Given the description of an element on the screen output the (x, y) to click on. 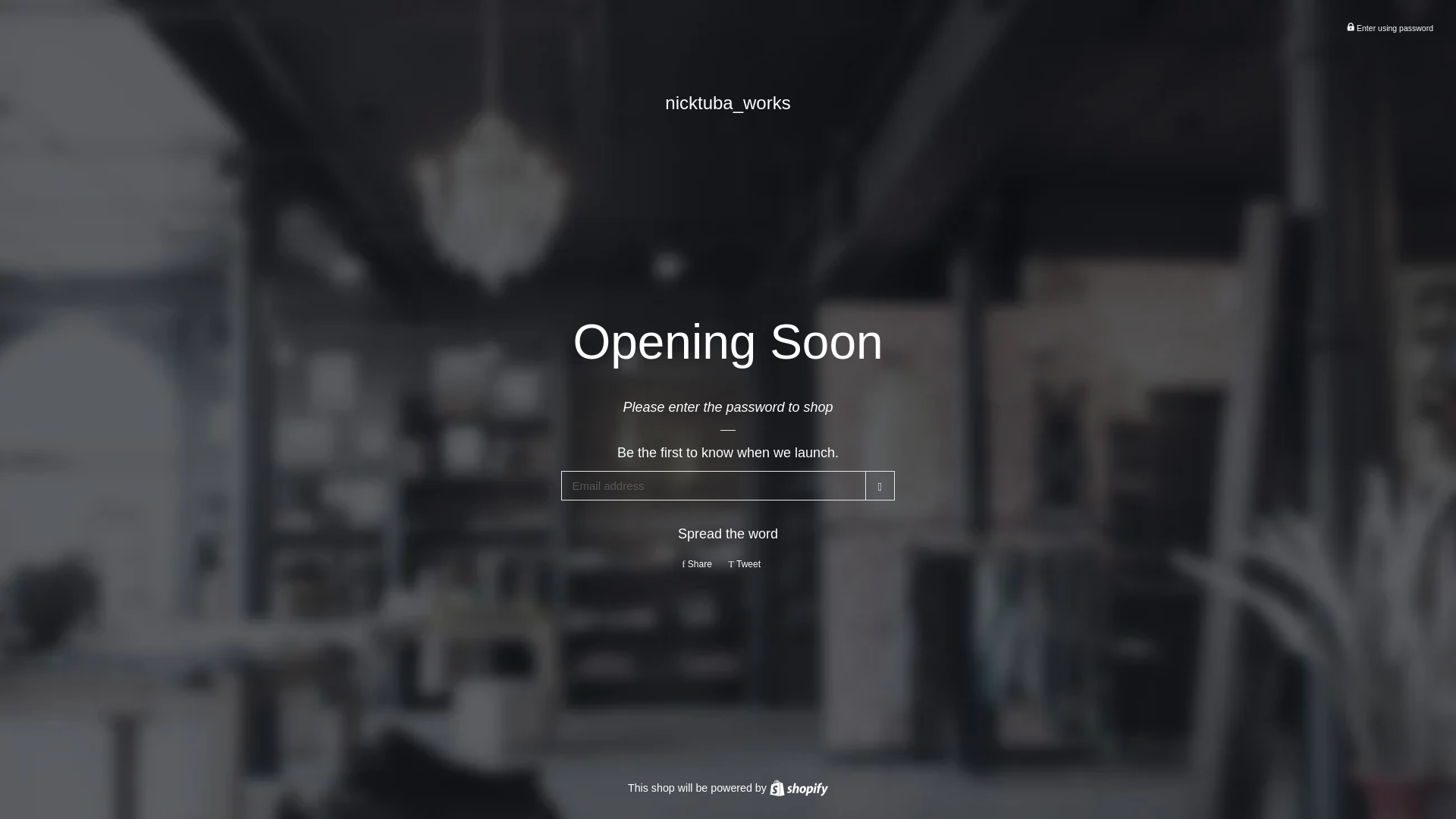
Lock icon (700, 564)
Lock icon Enter using password (1350, 26)
Shopify logo (1389, 26)
Submit (799, 787)
Create your own online store with Shopify (879, 485)
